Given the description of an element on the screen output the (x, y) to click on. 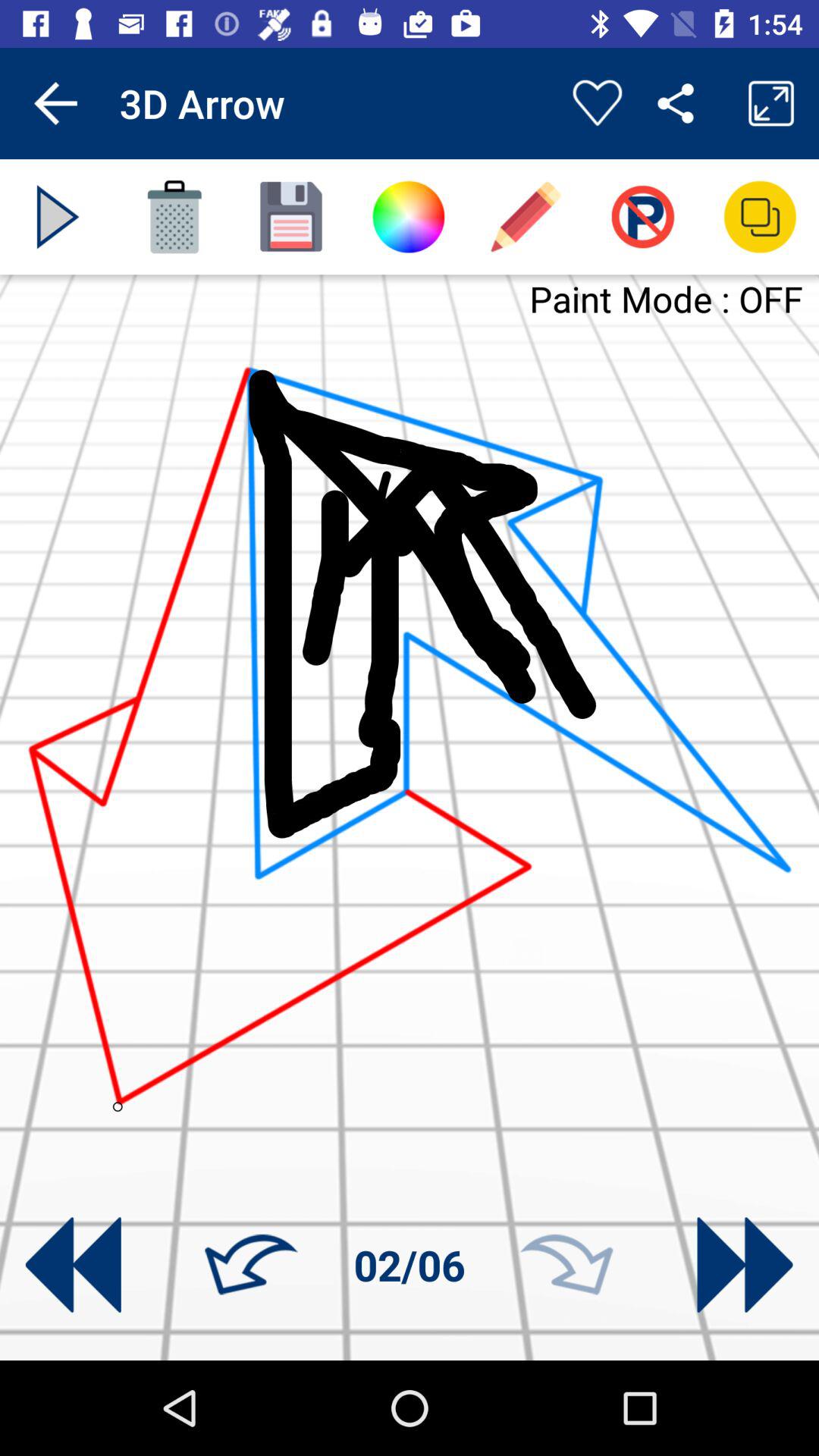
tap the icon next to 02/06 item (251, 1264)
